Given the description of an element on the screen output the (x, y) to click on. 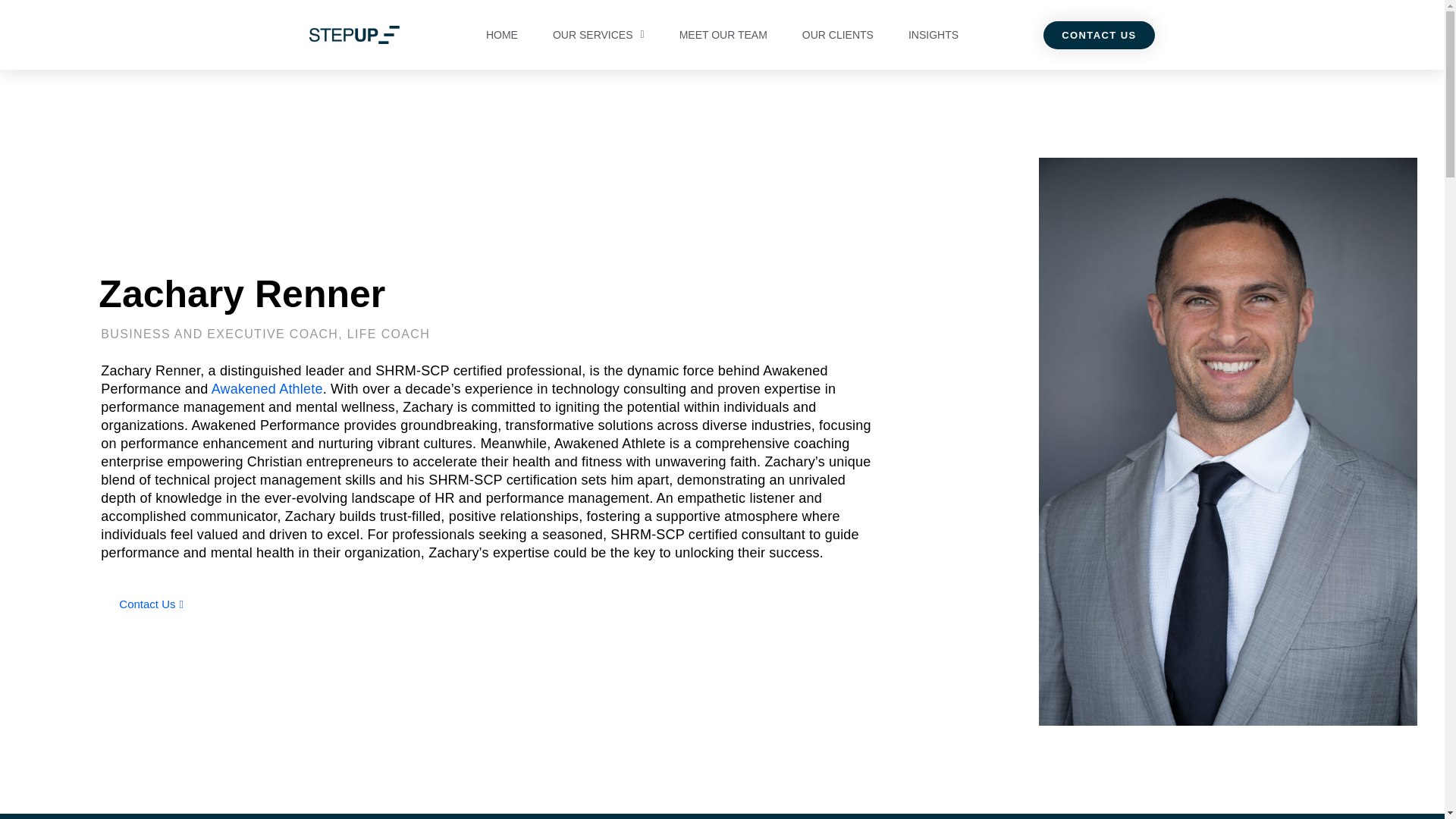
OUR SERVICES (598, 34)
Contact Us (151, 603)
HOME (501, 34)
Awakened Athlete (267, 388)
CONTACT US (1098, 35)
OUR CLIENTS (837, 34)
MEET OUR TEAM (723, 34)
INSIGHTS (933, 34)
